Given the description of an element on the screen output the (x, y) to click on. 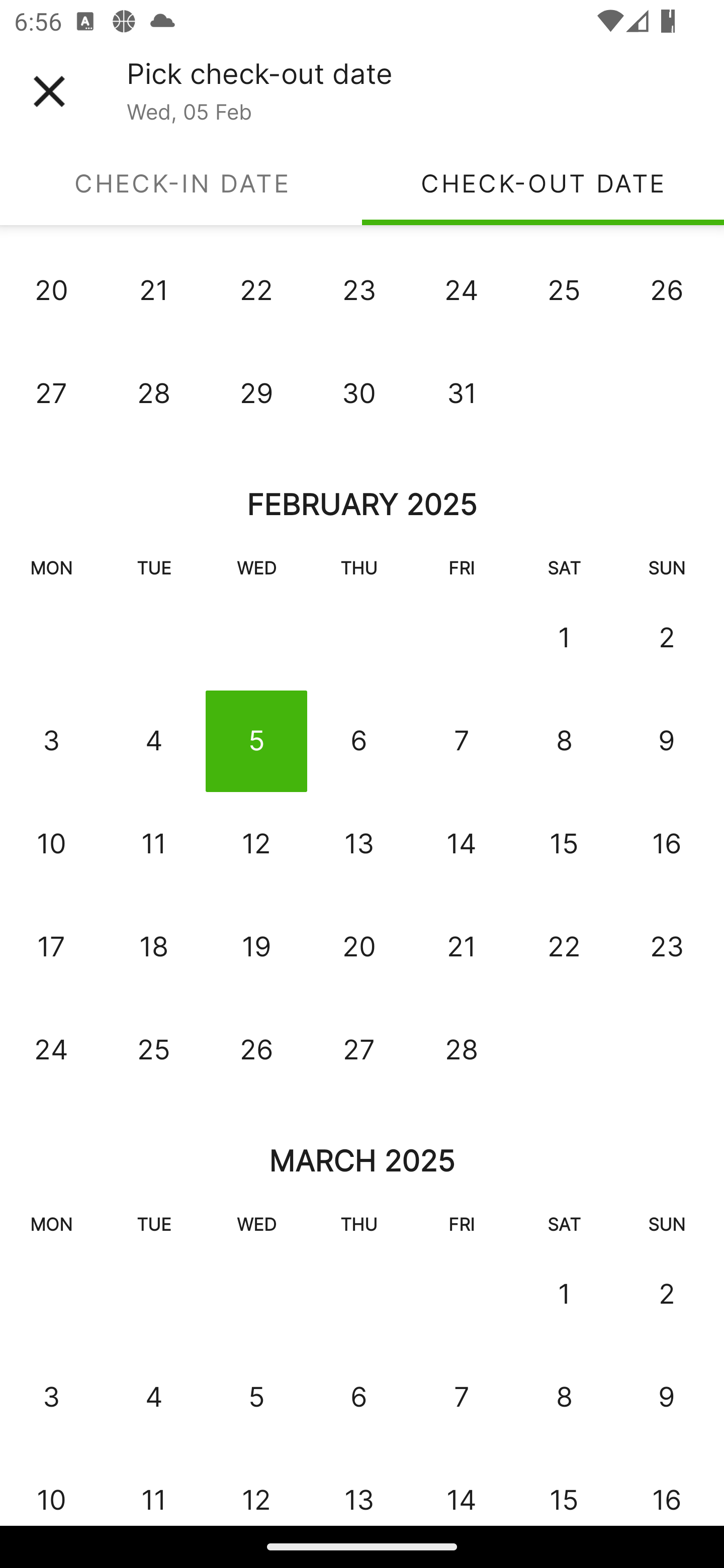
Check-in Date CHECK-IN DATE (181, 183)
